Given the description of an element on the screen output the (x, y) to click on. 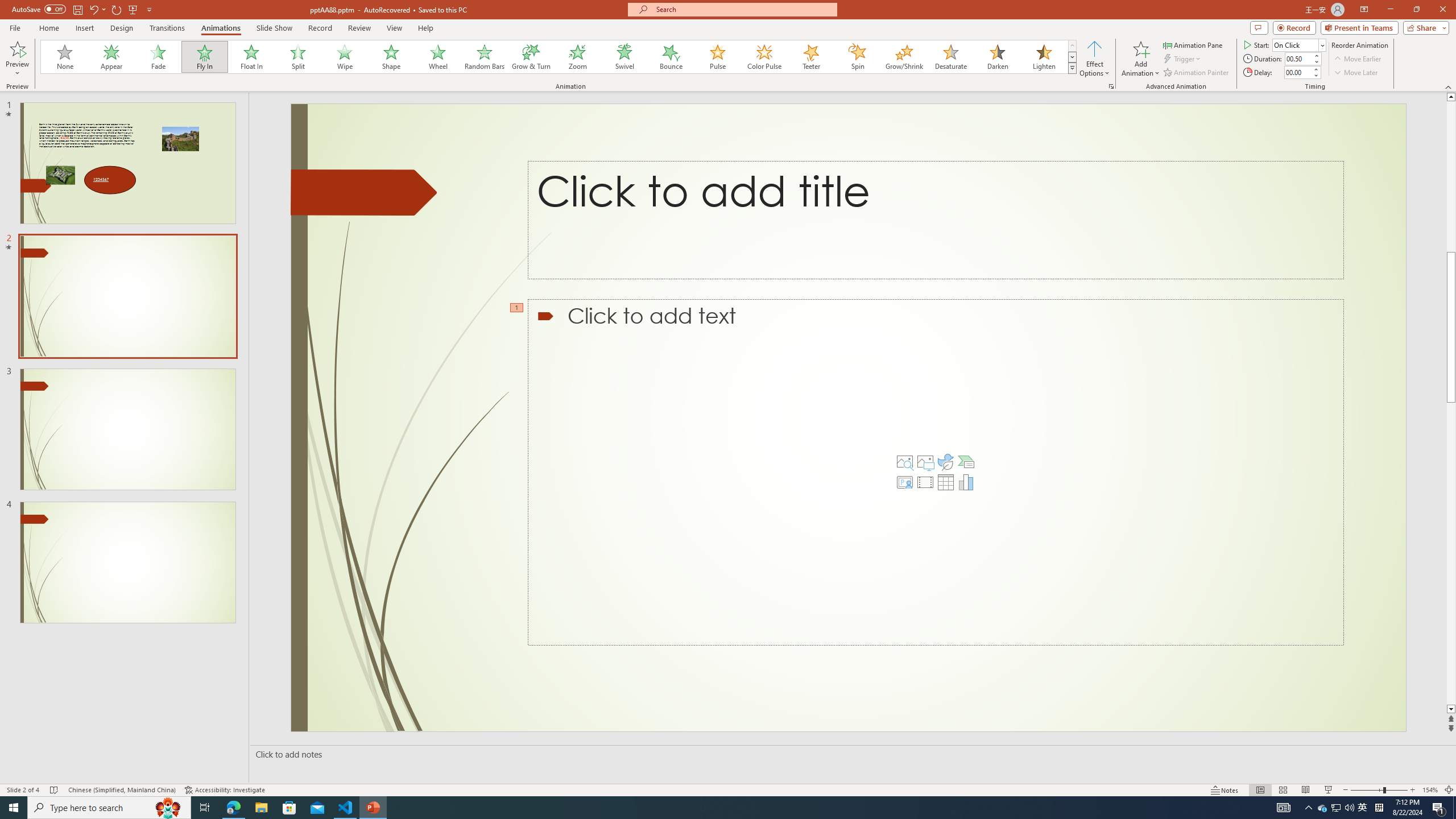
Fade (158, 56)
Animation Painter (1196, 72)
AutomationID: AnimationGallery (558, 56)
Fly In (205, 56)
Grow & Turn (531, 56)
Swivel (624, 56)
Insert an Icon (945, 461)
